Given the description of an element on the screen output the (x, y) to click on. 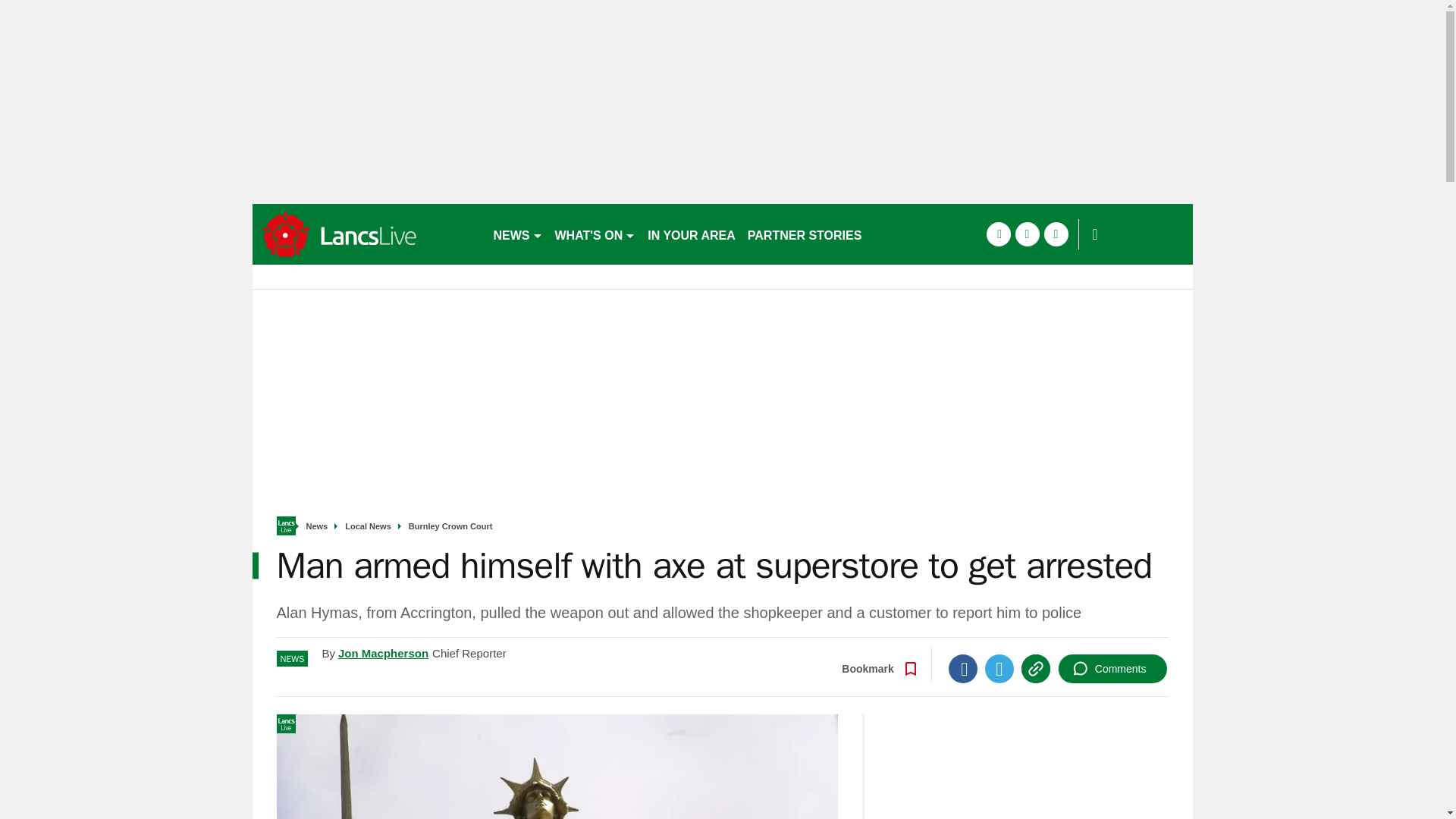
Twitter (999, 668)
accrington (365, 233)
instagram (1055, 233)
Comments (1112, 668)
twitter (1026, 233)
IN YOUR AREA (691, 233)
PARTNER STORIES (804, 233)
Facebook (962, 668)
NEWS (517, 233)
facebook (997, 233)
